Given the description of an element on the screen output the (x, y) to click on. 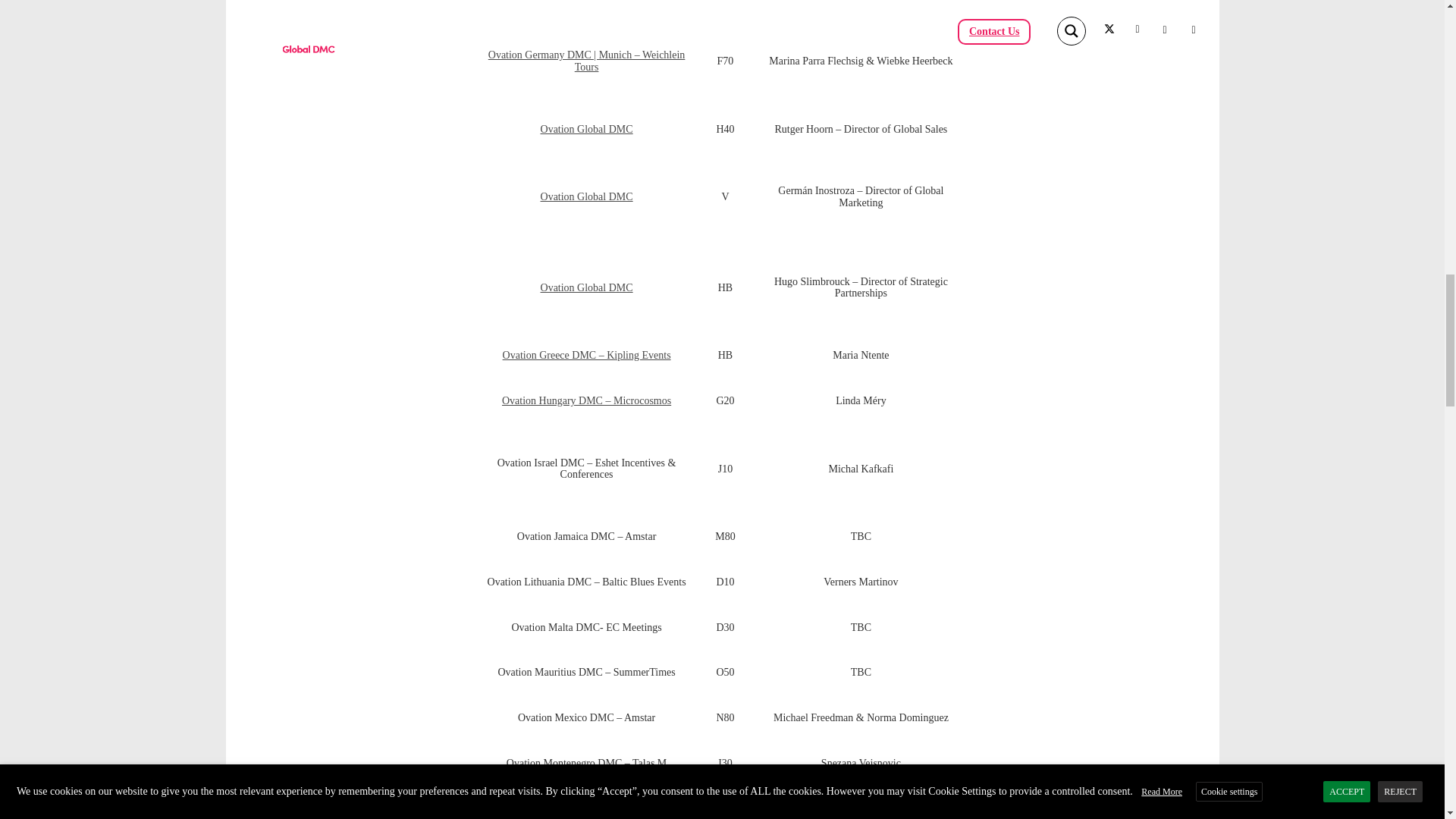
Ovation Global DMC (586, 196)
Ovation Global DMC (586, 287)
Ovation Global DMC (586, 129)
